Given the description of an element on the screen output the (x, y) to click on. 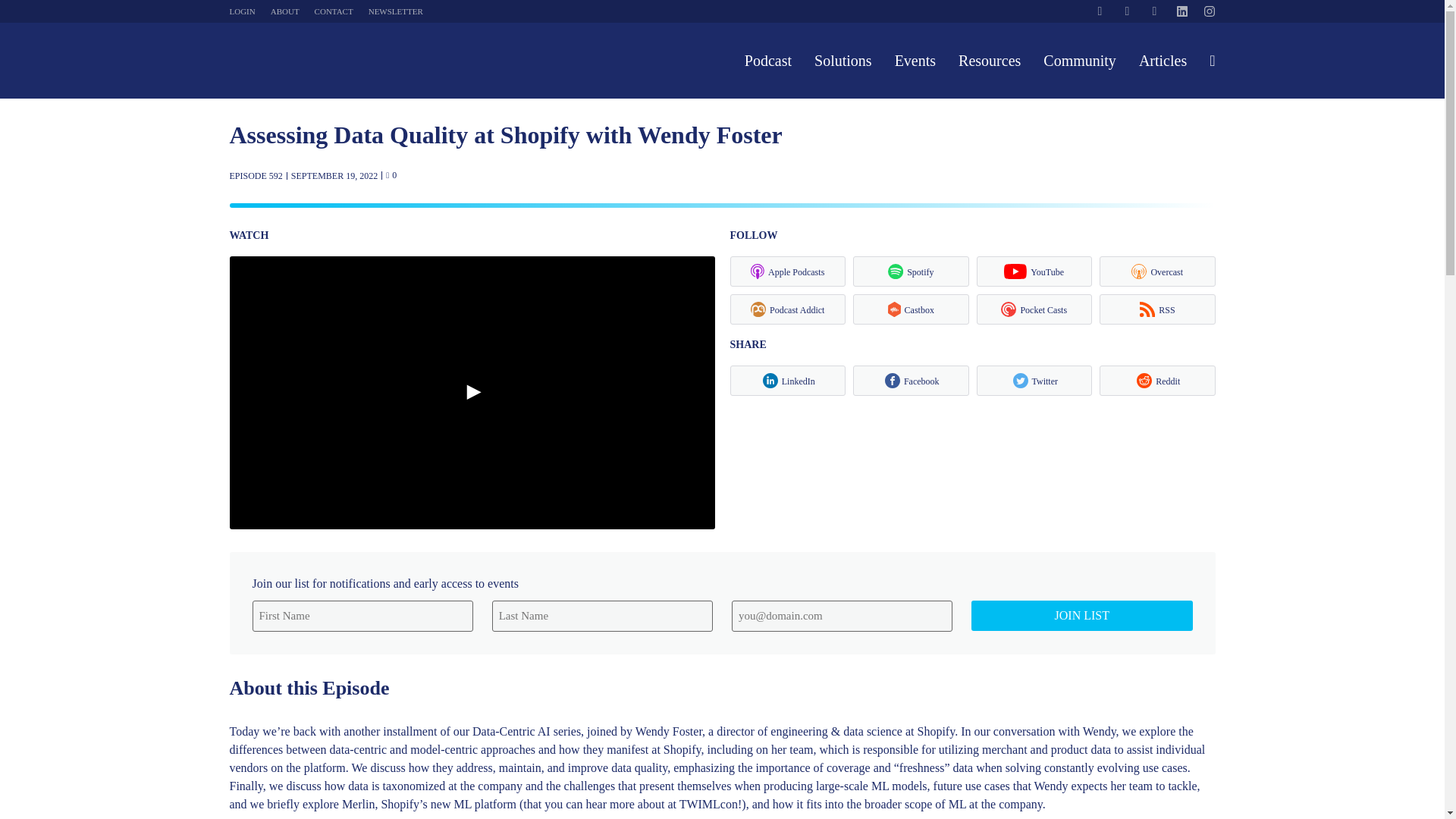
CONTACT (333, 11)
Apple Podcasts (787, 271)
Community (1079, 60)
Spotify (911, 271)
Podcast Addict (787, 309)
NEWSLETTER (395, 11)
ABOUT (284, 11)
YouTube (1034, 271)
Solutions (842, 60)
Overcast (1157, 271)
LOGIN (241, 11)
youtube Video Player (471, 392)
Podcast (768, 60)
Castbox (911, 309)
Events (915, 60)
